Given the description of an element on the screen output the (x, y) to click on. 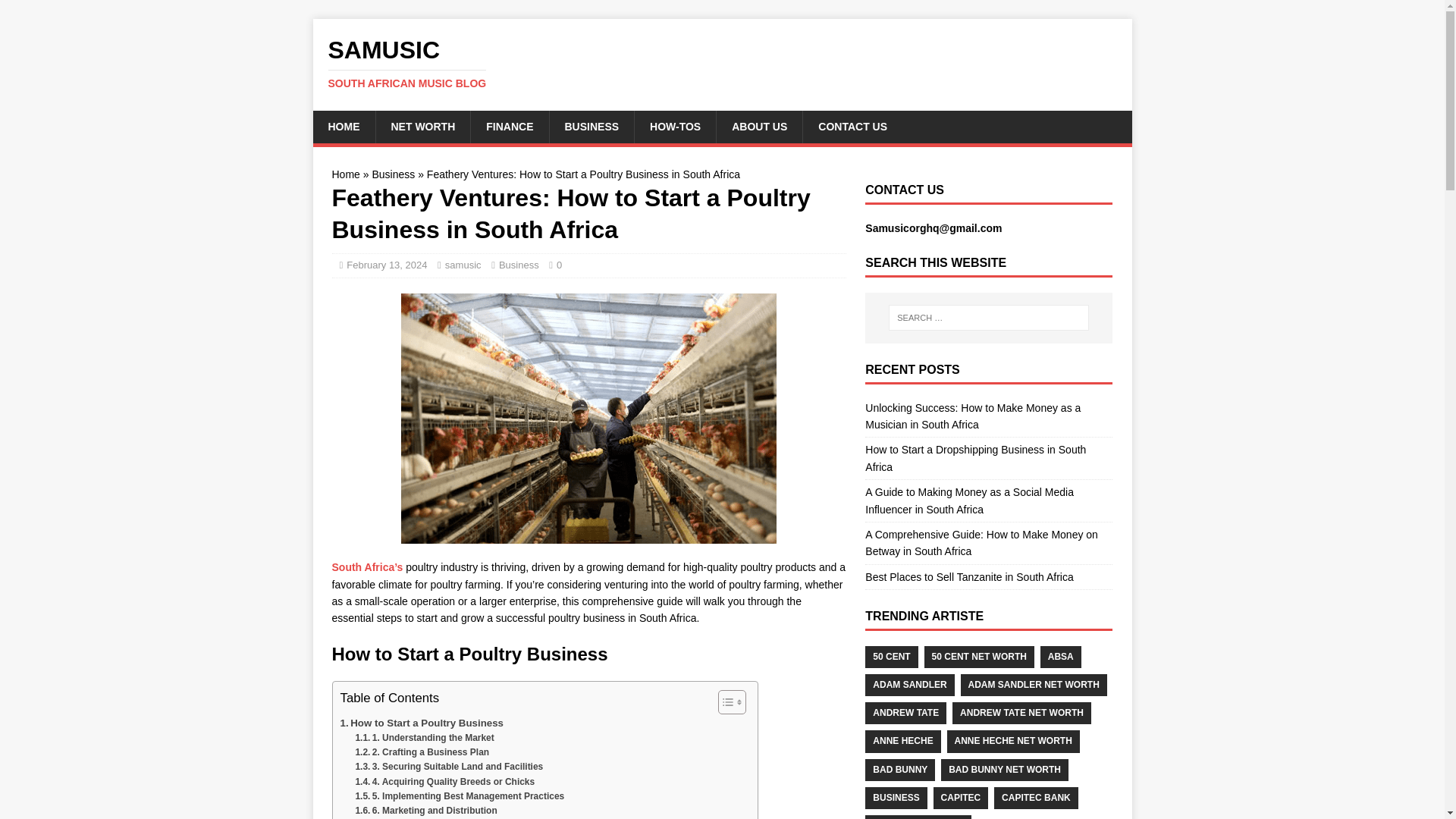
1. Understanding the Market (424, 738)
BUSINESS (591, 126)
6. Marketing and Distribution (425, 810)
How to Start a Poultry Business (420, 722)
Business (392, 174)
2. Crafting a Business Plan (422, 752)
HOW-TOS (674, 126)
3. Securing Suitable Land and Facilities (449, 766)
6. Marketing and Distribution (425, 810)
